Given the description of an element on the screen output the (x, y) to click on. 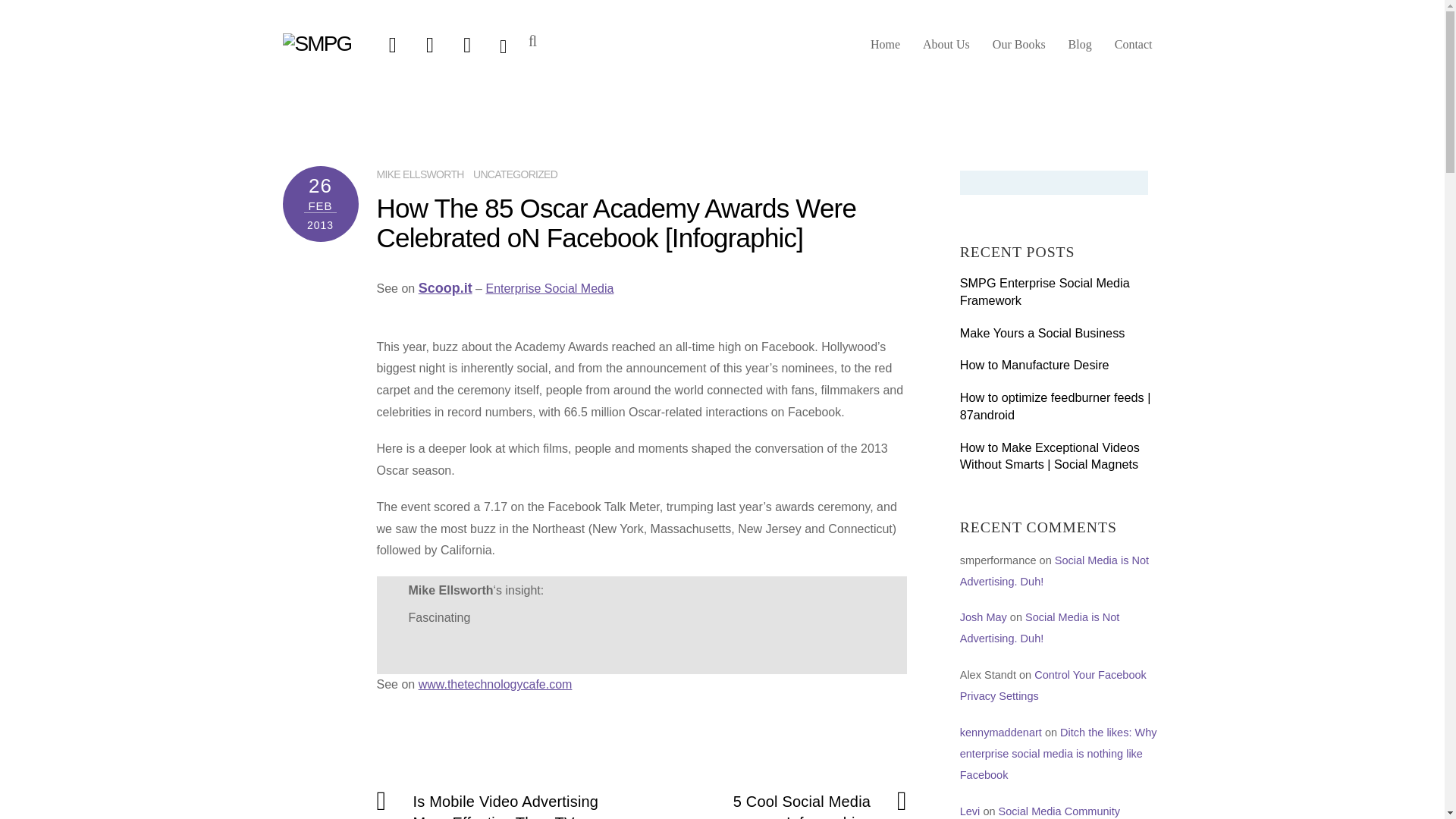
Make Yours a Social Business (1060, 333)
www.thetechnologycafe.com (495, 684)
Scoop.it (445, 287)
About Us (945, 50)
Home (885, 50)
Blog (1080, 50)
Enterprise Social Media (548, 287)
Facebook (429, 43)
SMPG (316, 43)
Twitter (392, 43)
